Given the description of an element on the screen output the (x, y) to click on. 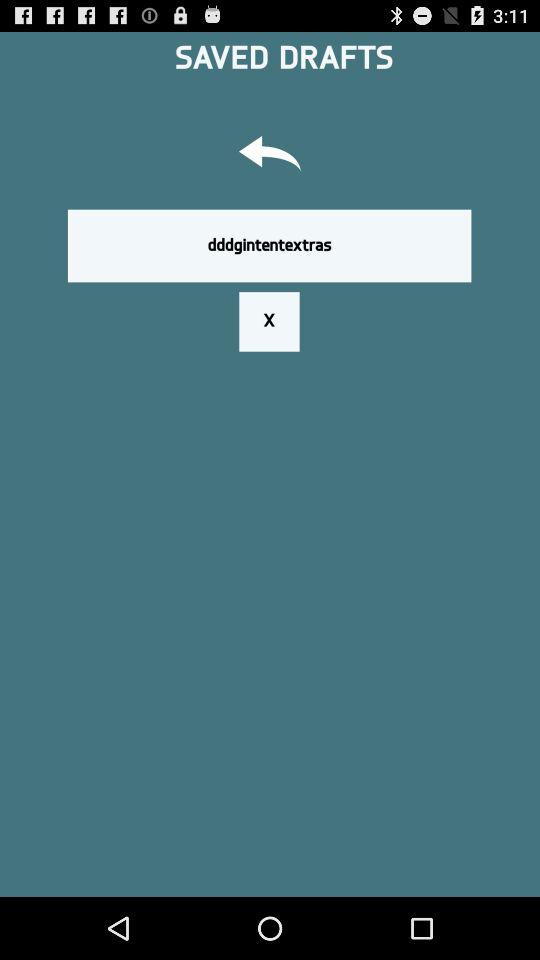
select app below saved drafts item (269, 155)
